Given the description of an element on the screen output the (x, y) to click on. 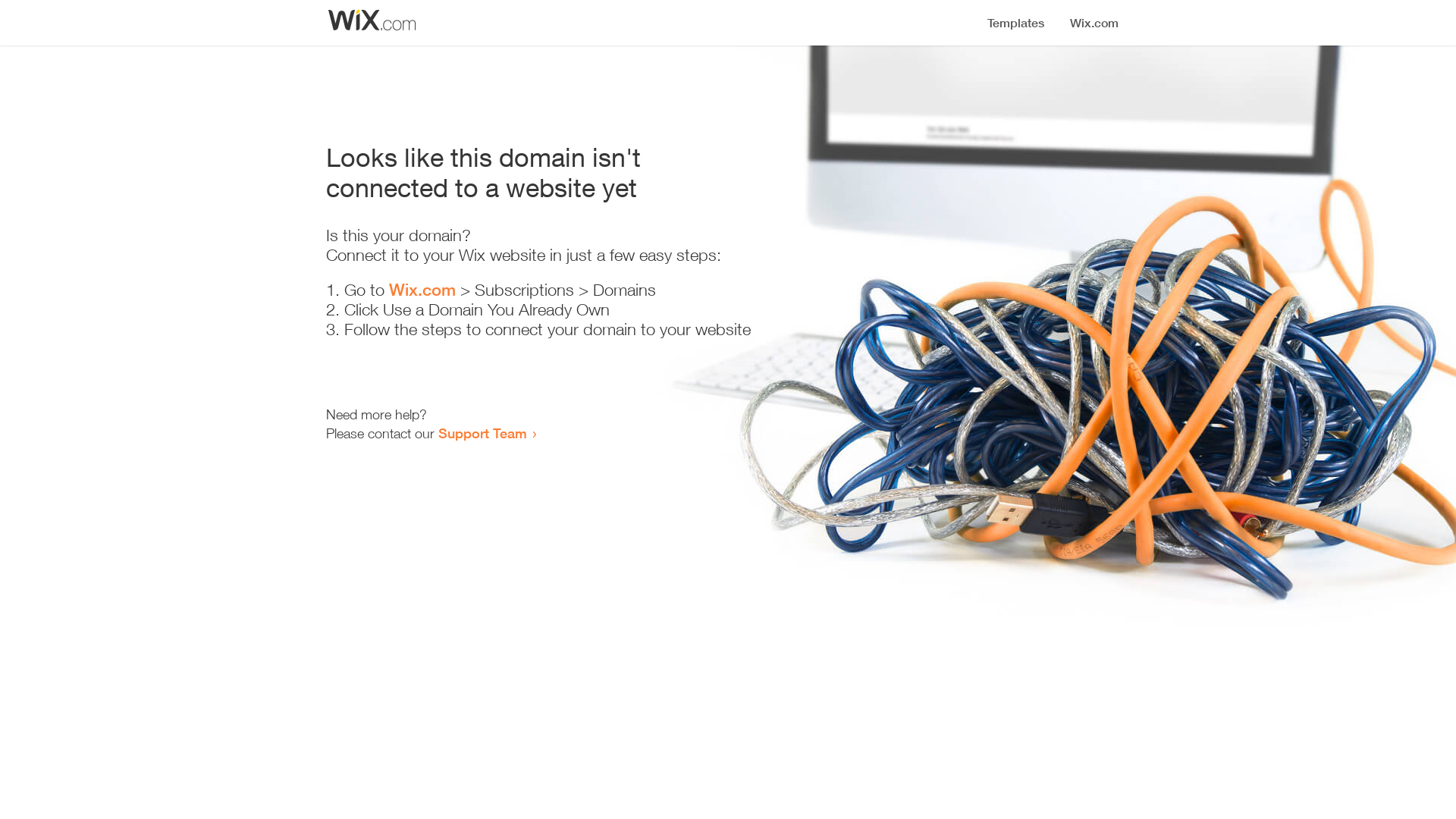
Wix.com Element type: text (422, 289)
Support Team Element type: text (482, 432)
